Given the description of an element on the screen output the (x, y) to click on. 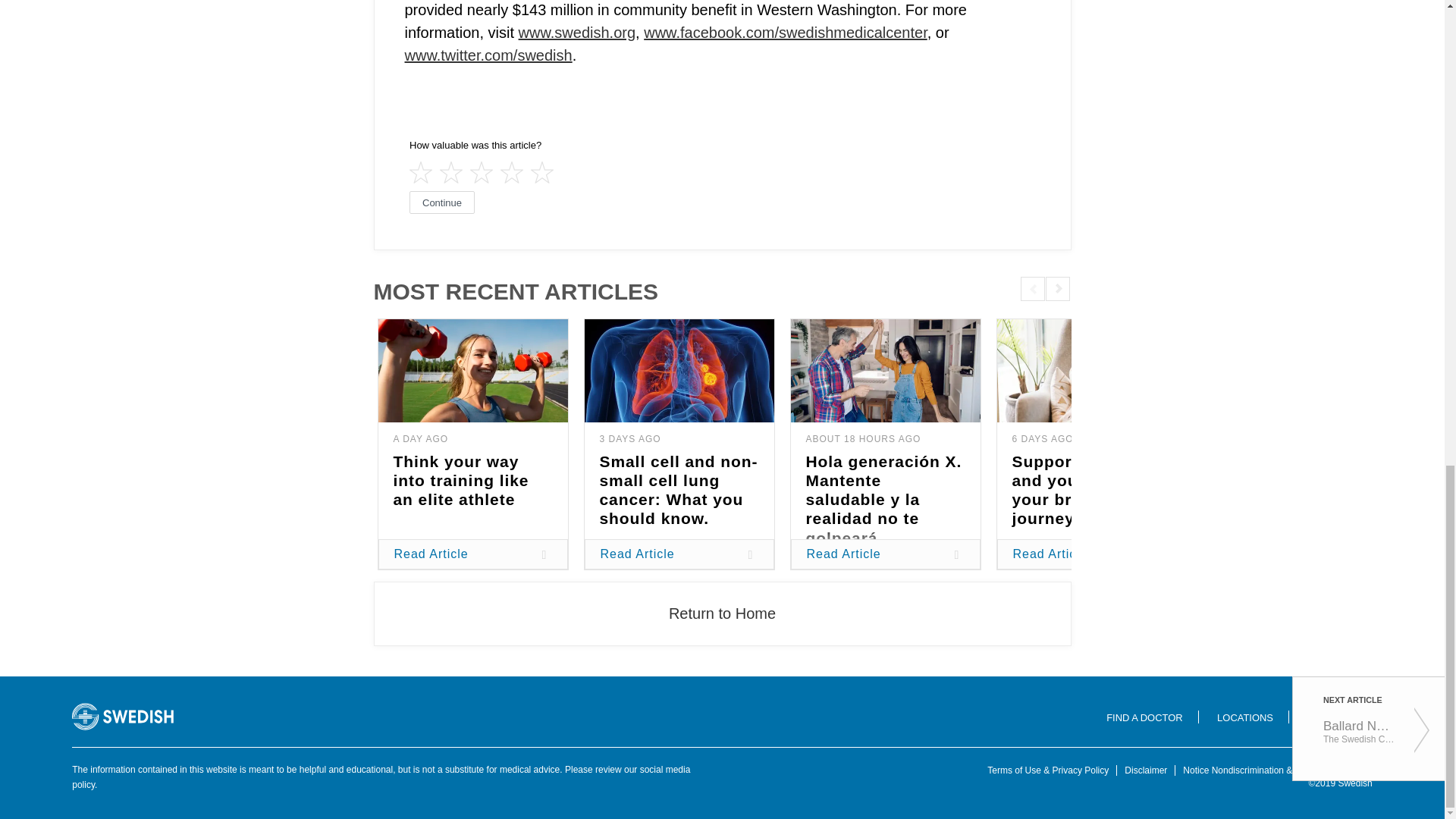
2024-08-16T15:24:19 (1042, 439)
2024-08-21T16:49:20 (862, 439)
2024-08-21T07:00:05 (420, 439)
2024-08-19T11:59:02 (629, 439)
